Given the description of an element on the screen output the (x, y) to click on. 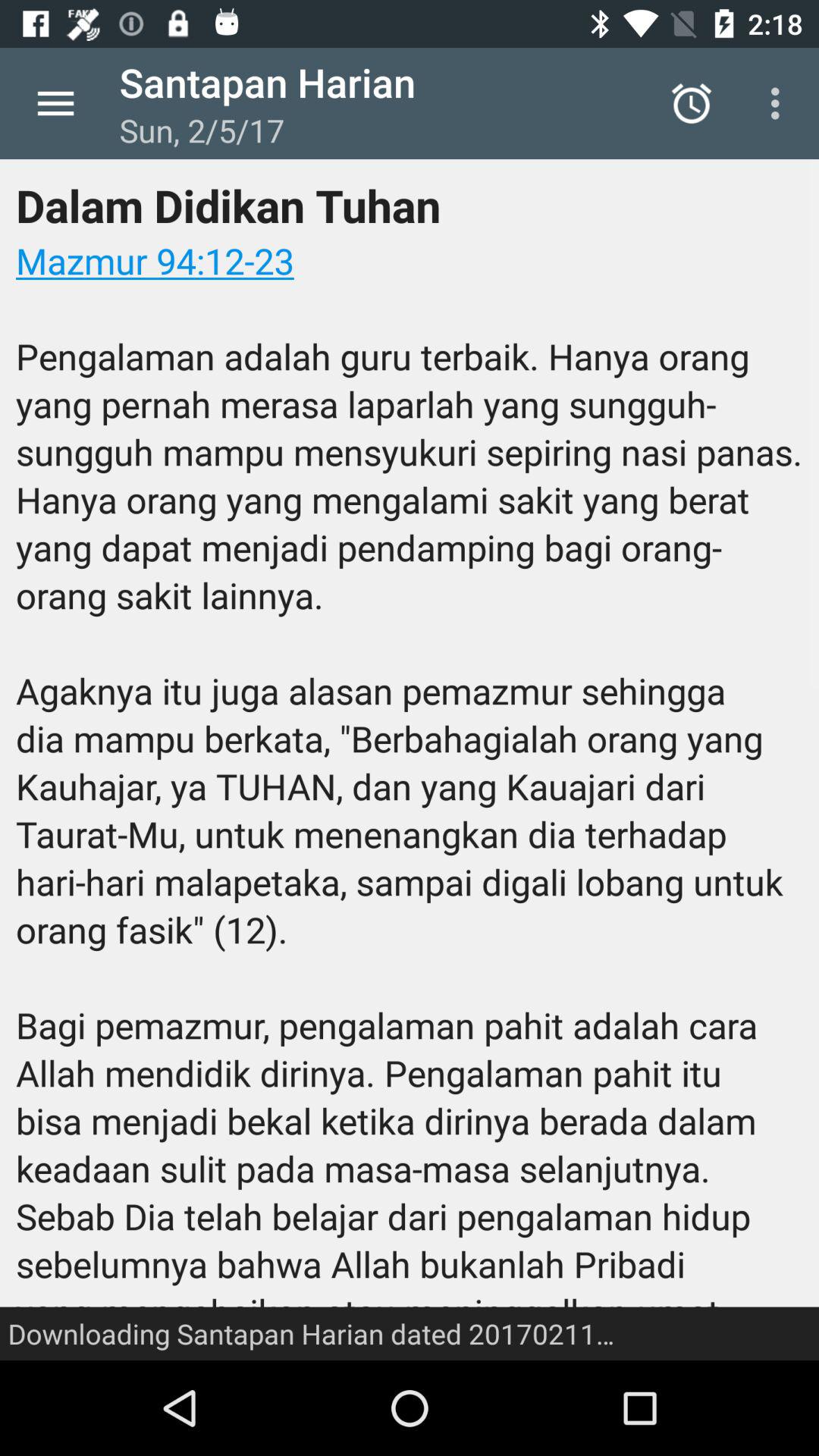
choose dalam didikan tuhan item (409, 759)
